Given the description of an element on the screen output the (x, y) to click on. 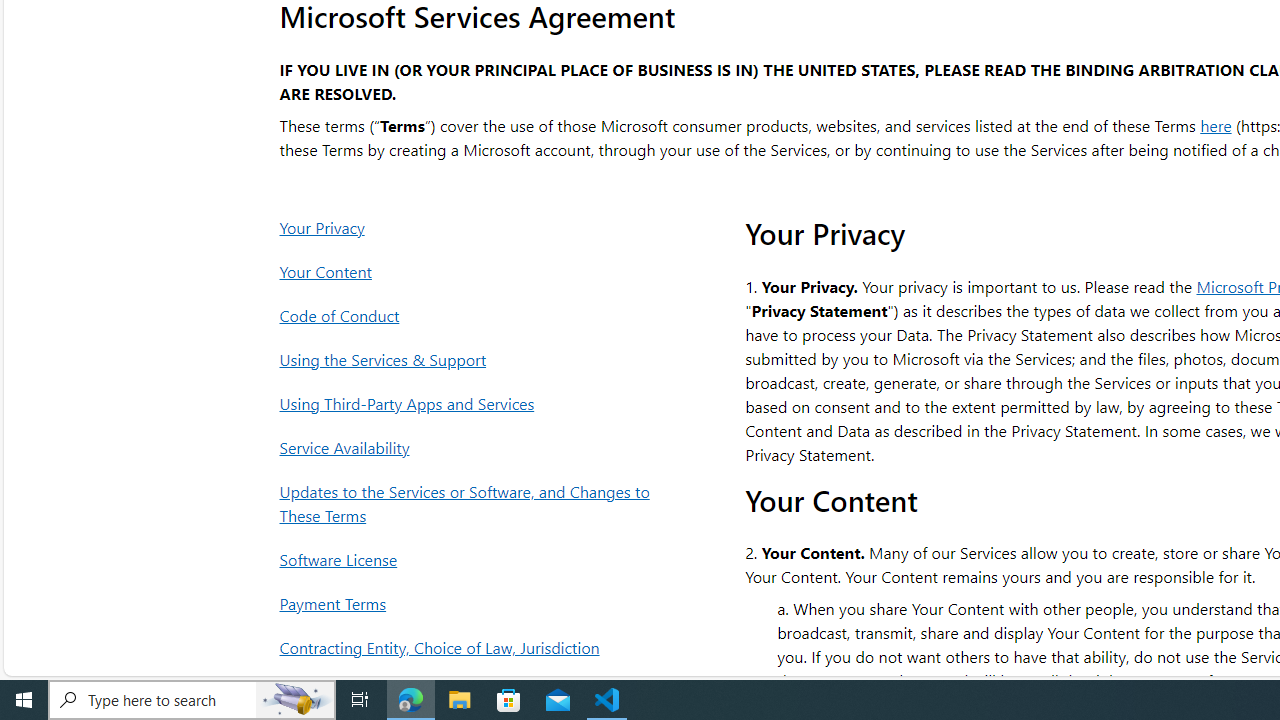
Code of Conduct (470, 315)
Using Third-Party Apps and Services (470, 403)
Software License (470, 559)
Service Availability (470, 447)
Your Privacy (470, 227)
here (1215, 124)
Your Content (470, 271)
Payment Terms (470, 603)
Using the Services & Support (470, 359)
Contracting Entity, Choice of Law, Jurisdiction (470, 647)
